Given the description of an element on the screen output the (x, y) to click on. 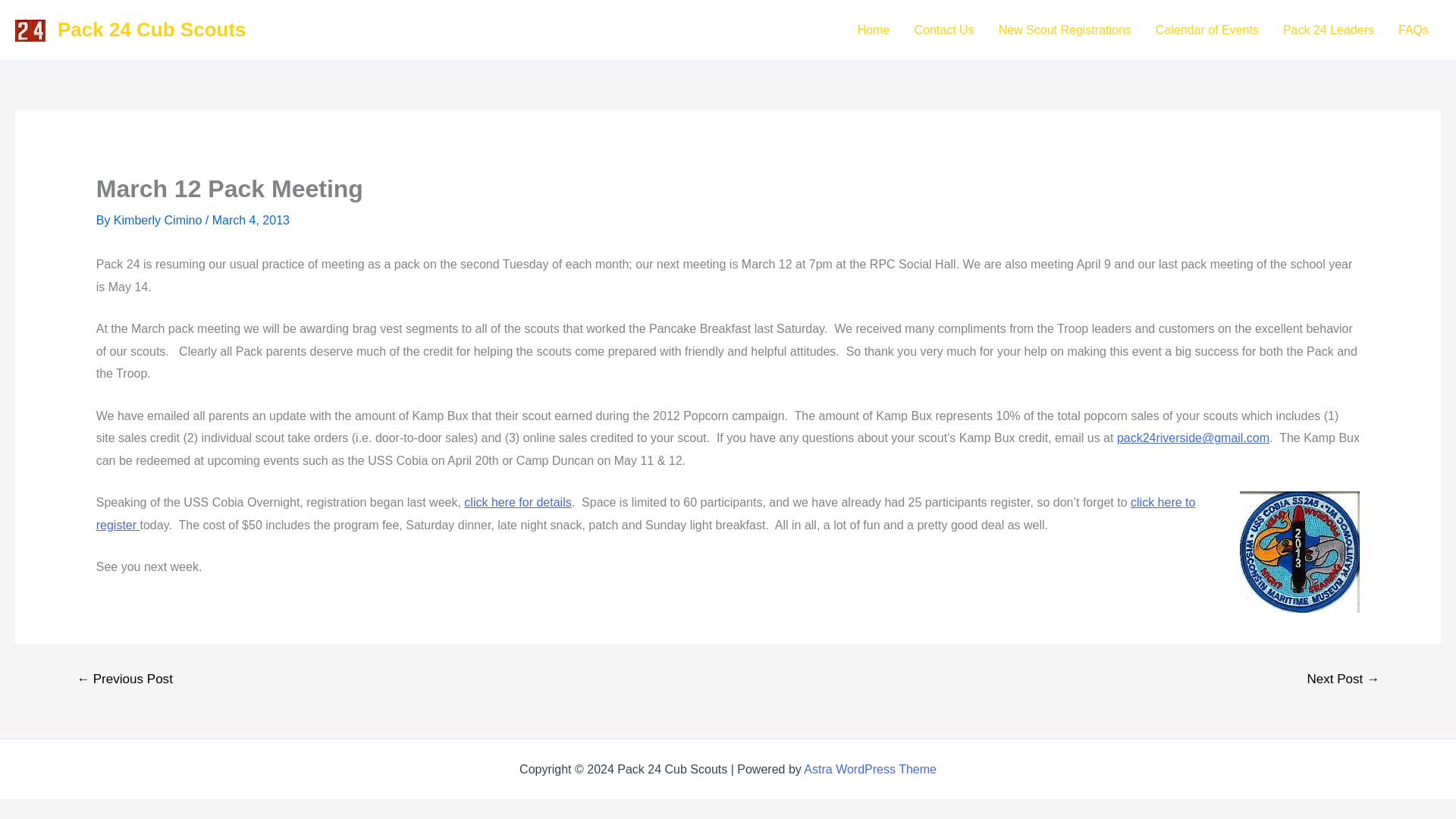
FAQs (1413, 30)
click here to register (645, 513)
Kimberly Cimino (159, 219)
View all posts by Kimberly Cimino (159, 219)
Contact Us (944, 30)
Home (873, 30)
Calendar of Events (1206, 30)
Pack 24 Cub Scouts (152, 29)
Astra WordPress Theme (869, 768)
USS Cobia Overnight Registration (517, 502)
